Given the description of an element on the screen output the (x, y) to click on. 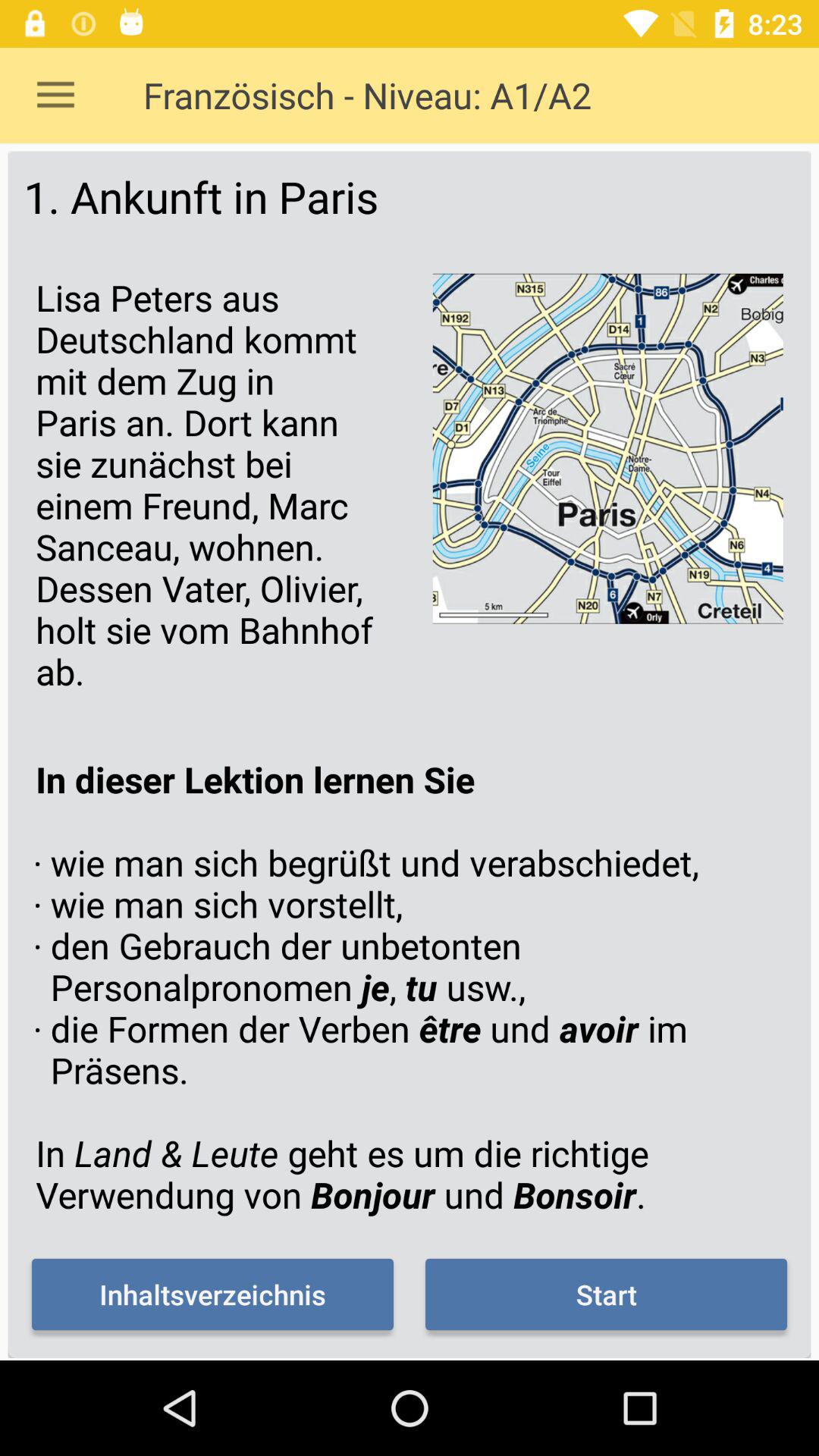
tap item below the in dieser lektion item (606, 1294)
